Given the description of an element on the screen output the (x, y) to click on. 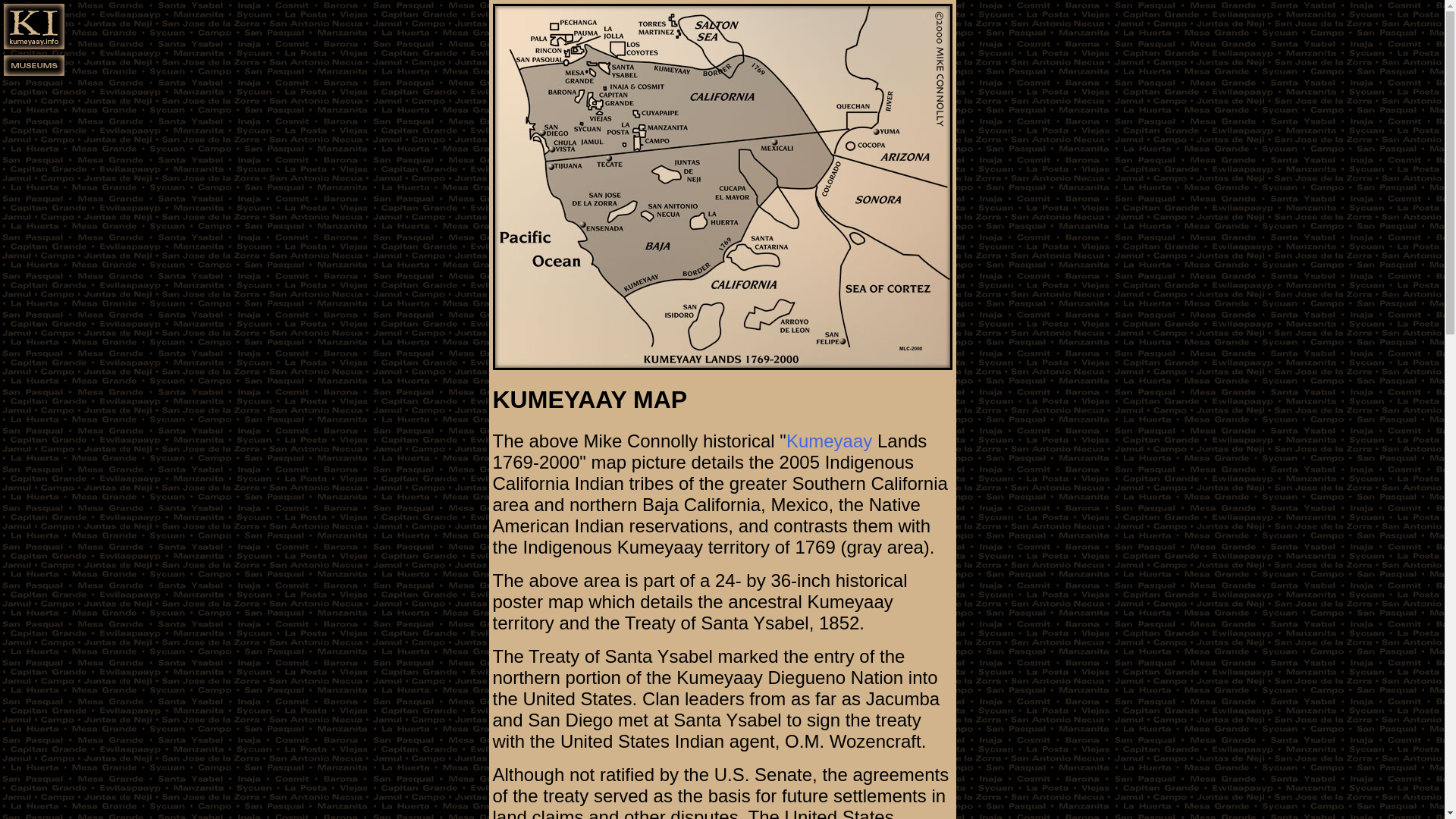
MUSEUMS (34, 77)
KUMEYAAY www.kumeyaay.info (829, 440)
HOME PAGE (34, 47)
Kumeyaay (829, 440)
